Given the description of an element on the screen output the (x, y) to click on. 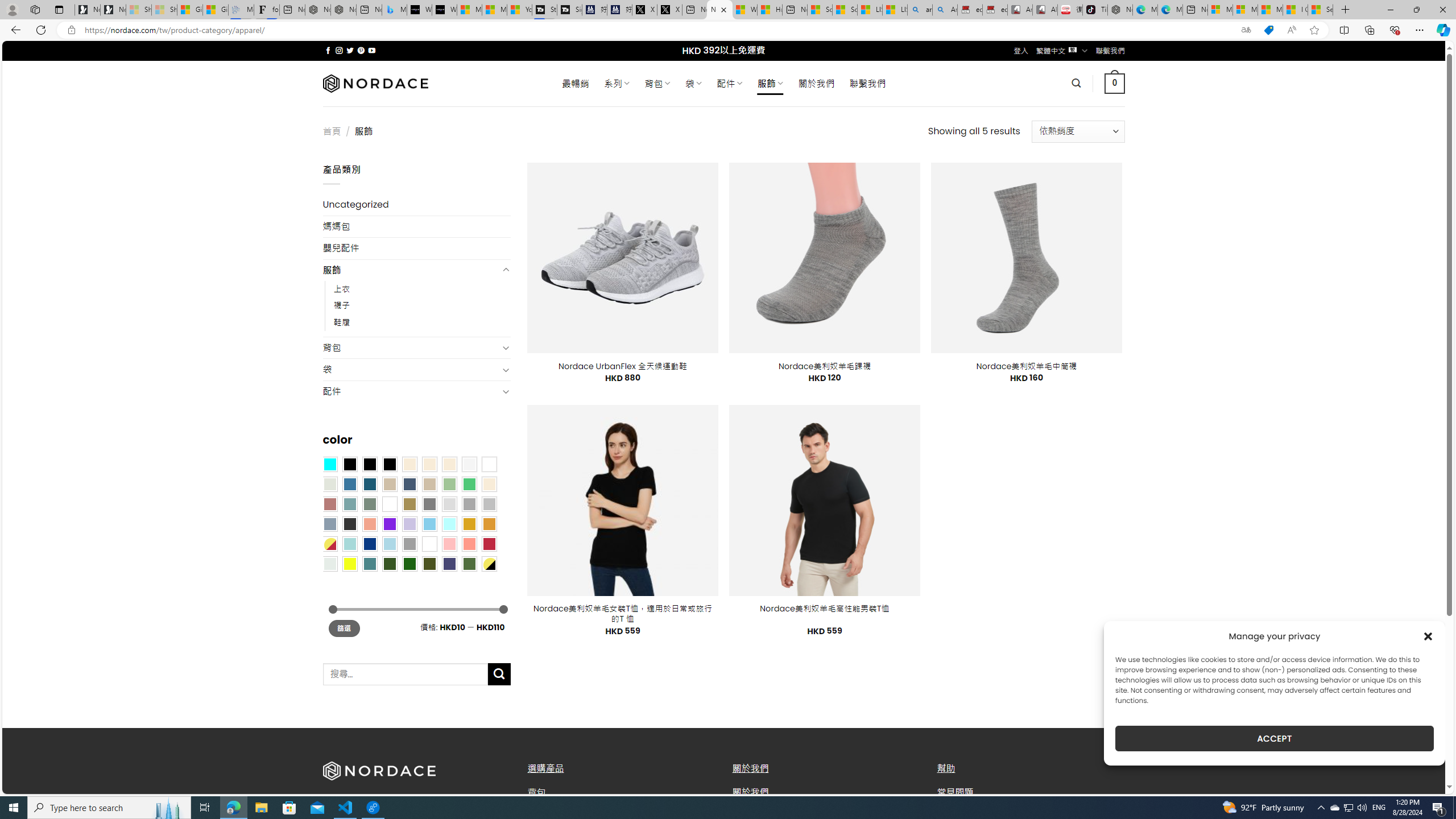
Gilma and Hector both pose tropical trouble for Hawaii (215, 9)
Microsoft Start Sports (469, 9)
Class: cmplz-close (1428, 636)
amazon - Search (919, 9)
  0   (1115, 83)
